Given the description of an element on the screen output the (x, y) to click on. 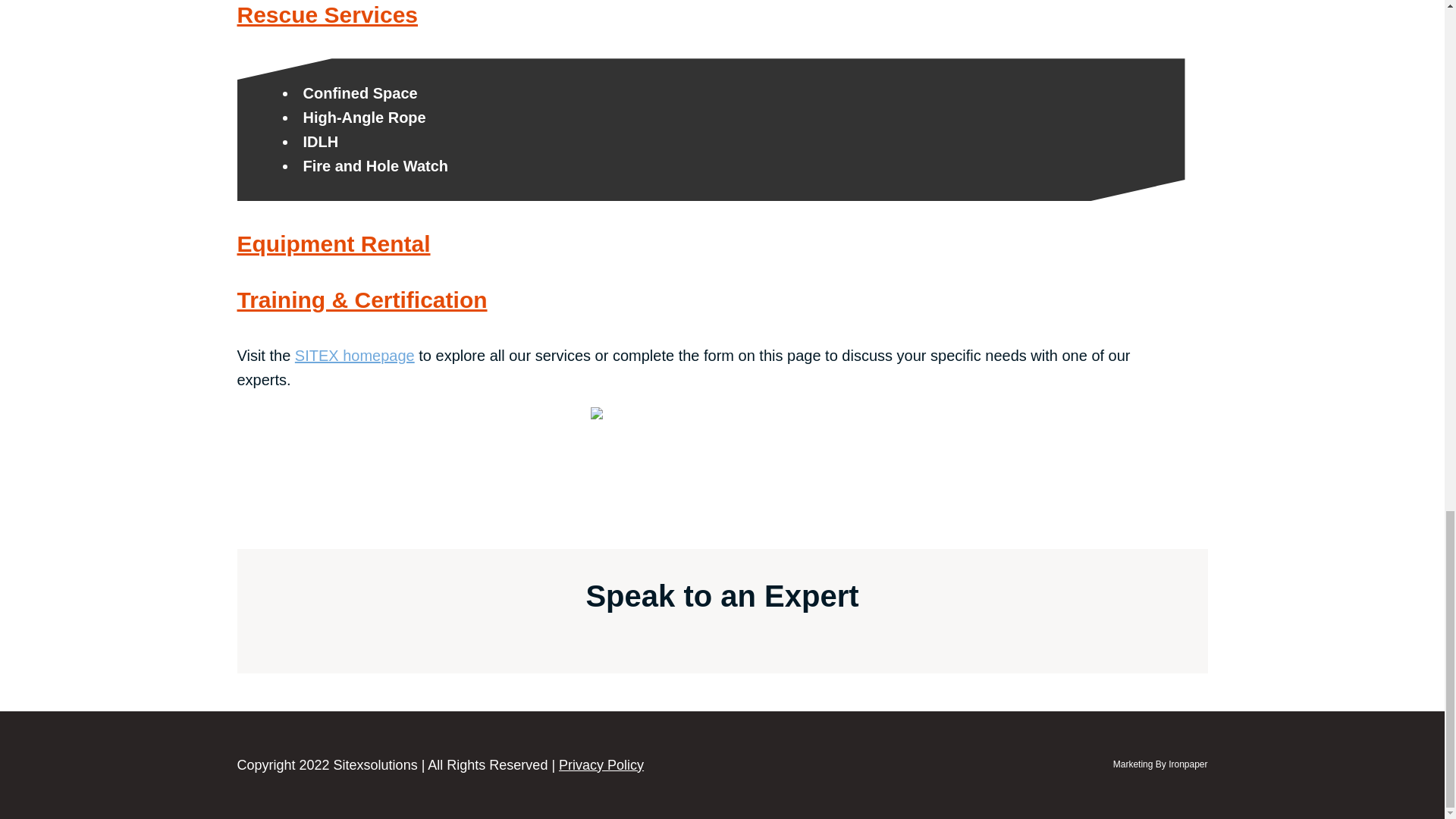
Rescue Services (326, 14)
Marketing By Ironpaper (1160, 764)
SITEX homepage (354, 355)
Privacy Policy (601, 765)
Equipment Rental (332, 243)
